Given the description of an element on the screen output the (x, y) to click on. 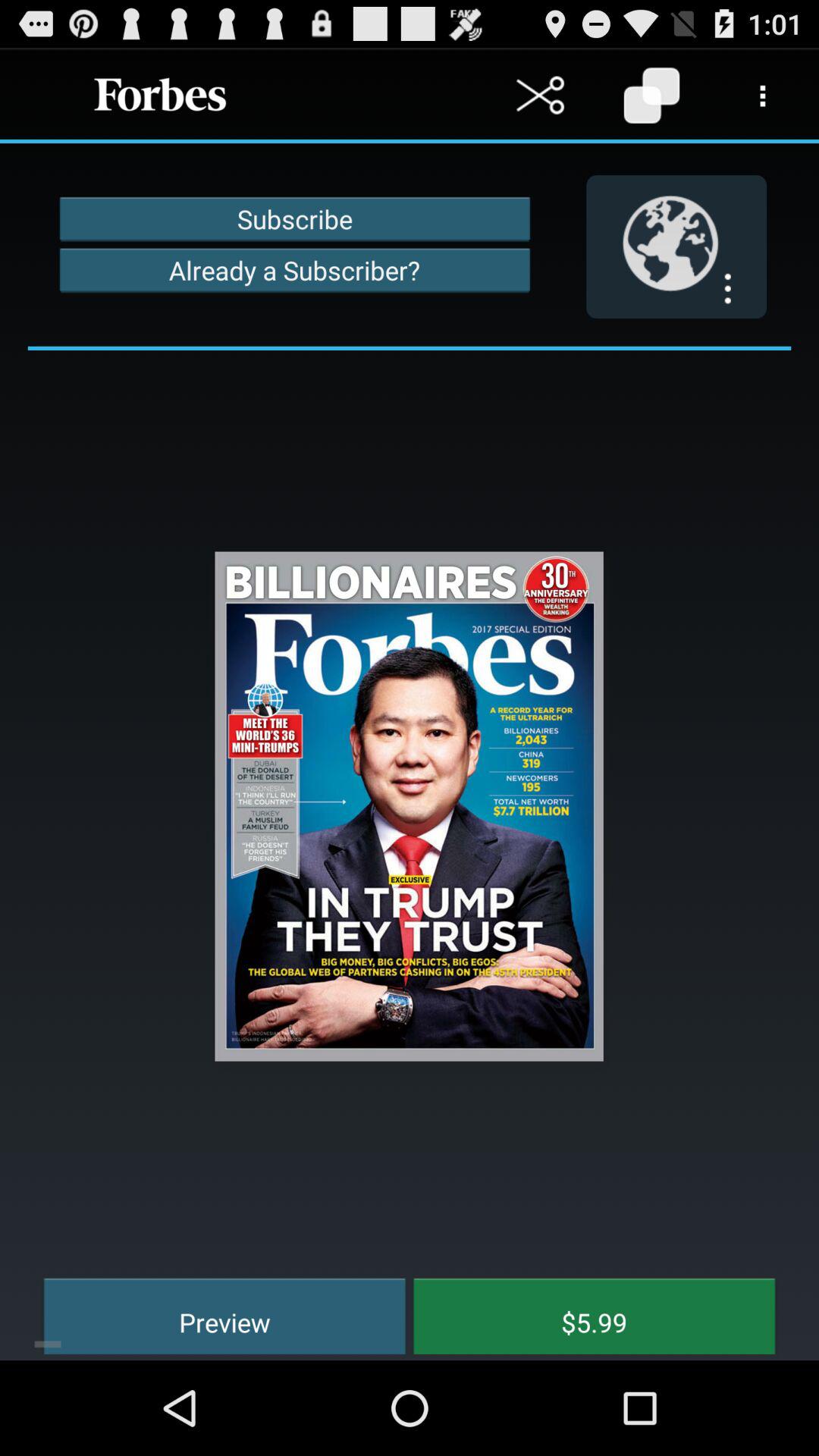
copy article (651, 95)
